Given the description of an element on the screen output the (x, y) to click on. 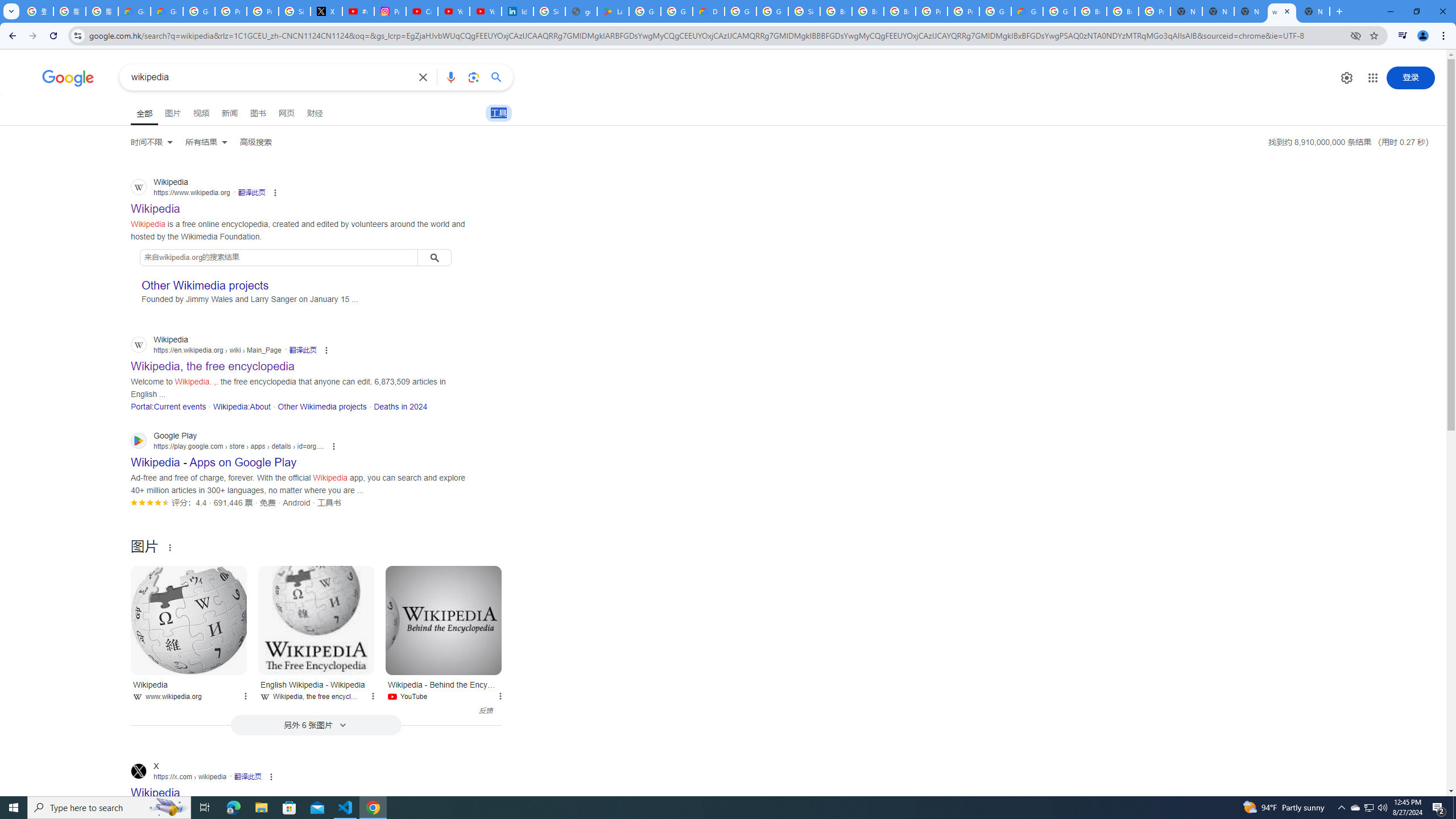
Browse Chrome as a guest - Computer - Google Chrome Help (1091, 11)
Browse Chrome as a guest - Computer - Google Chrome Help (836, 11)
Wikipedia:About (241, 406)
Browse Chrome as a guest - Computer - Google Chrome Help (868, 11)
Deaths in 2024 (401, 406)
Sign in - Google Accounts (804, 11)
Privacy Help Center - Policies Help (230, 11)
English Wikipedia - Wikipedia (315, 619)
